Given the description of an element on the screen output the (x, y) to click on. 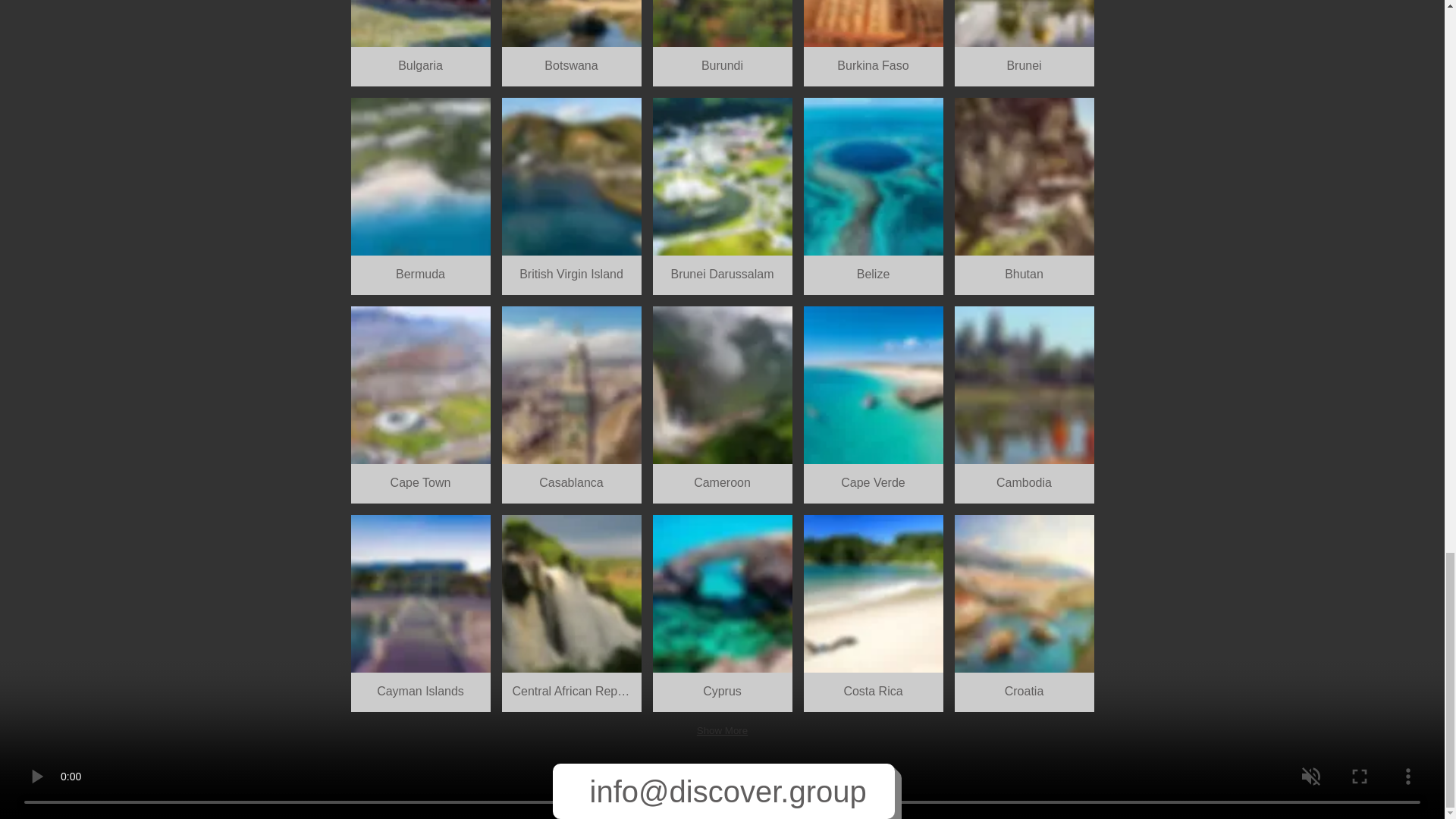
Brunei (1023, 43)
Burkina Faso (873, 43)
British Virgin Island (572, 195)
Brunei Darussalam (722, 195)
Botswana (572, 43)
Bulgaria (419, 43)
Burundi (722, 43)
Bermuda (419, 195)
